Given the description of an element on the screen output the (x, y) to click on. 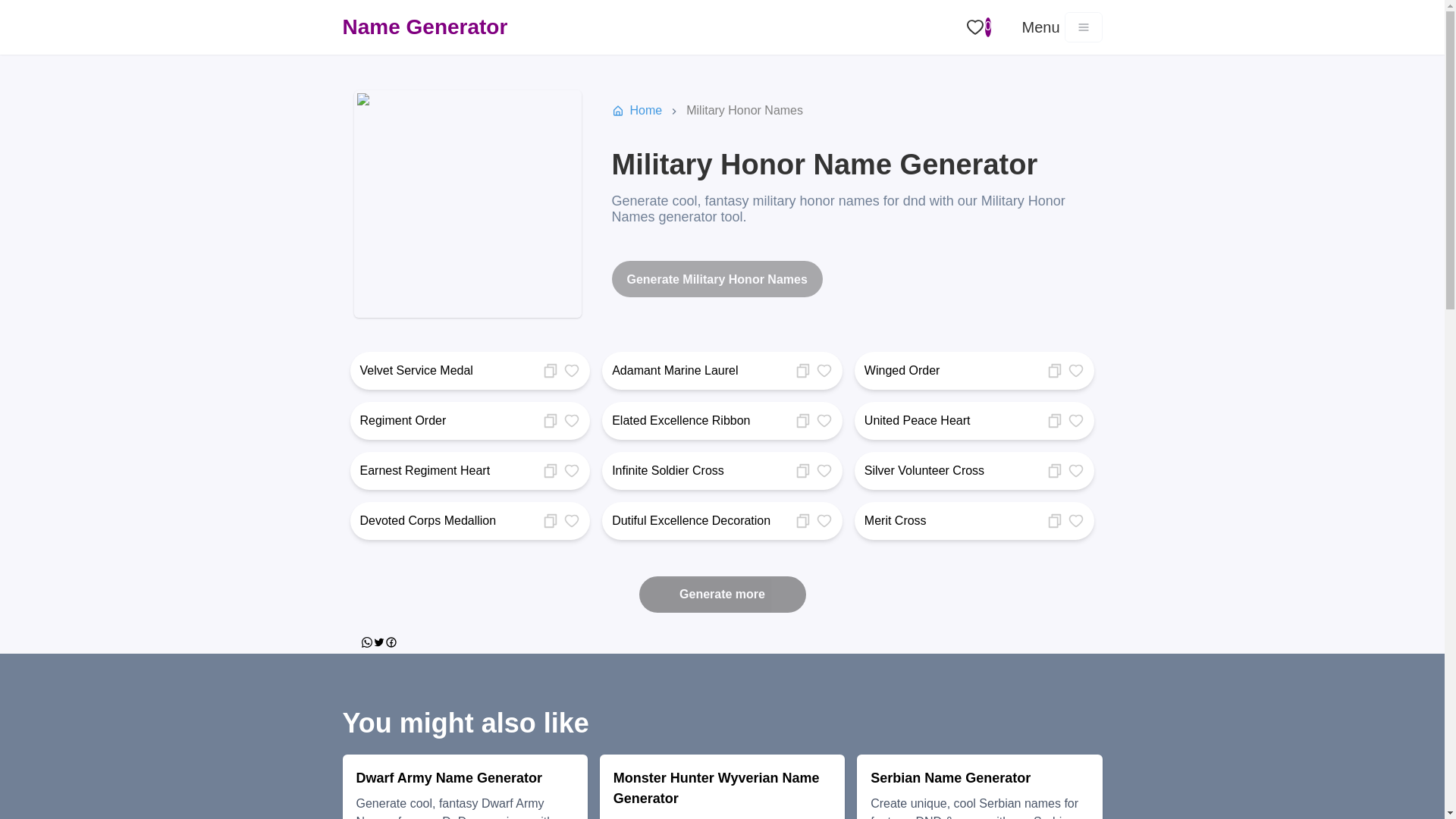
Name Generator (425, 26)
Generate Military Honor Names (716, 279)
Home (645, 110)
